Given the description of an element on the screen output the (x, y) to click on. 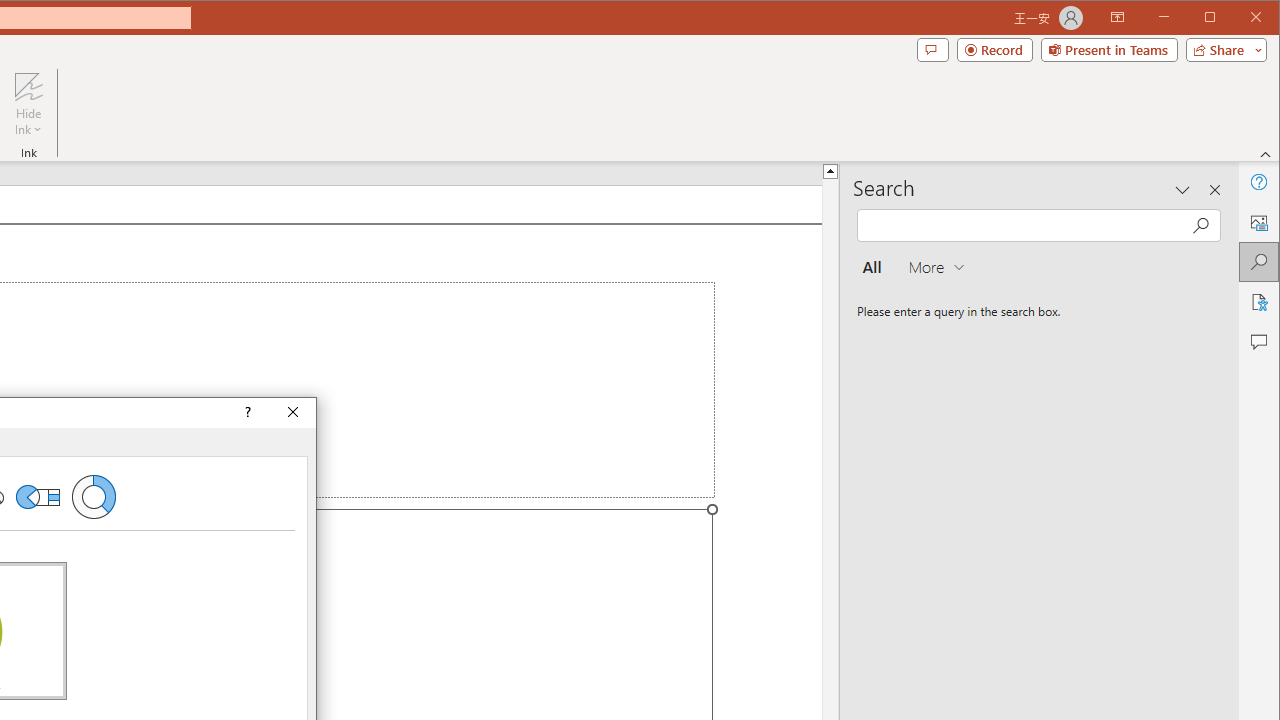
Bar of Pie (38, 496)
Alt Text (1258, 221)
Doughnut (93, 496)
Hide Ink (28, 86)
